Given the description of an element on the screen output the (x, y) to click on. 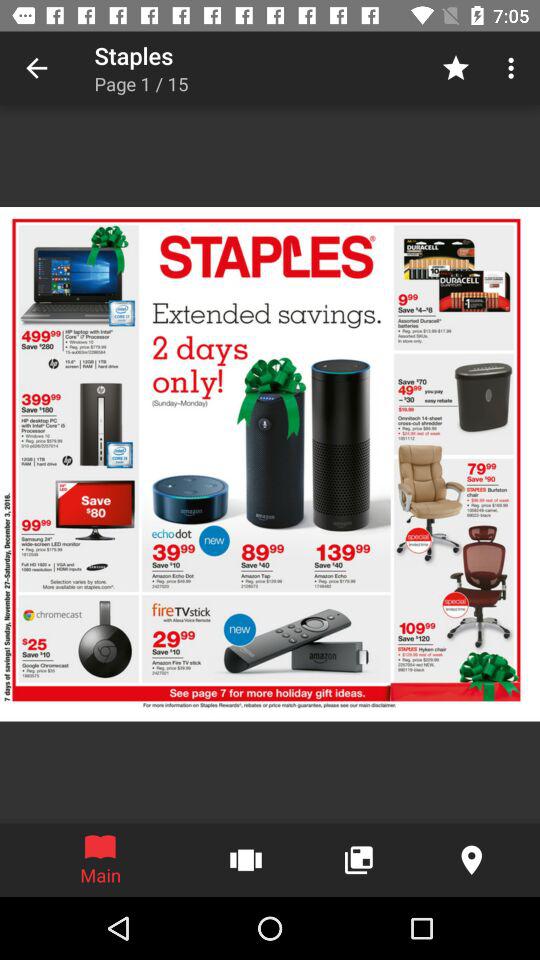
launch the item to the right of page 1 / 15 (455, 67)
